Given the description of an element on the screen output the (x, y) to click on. 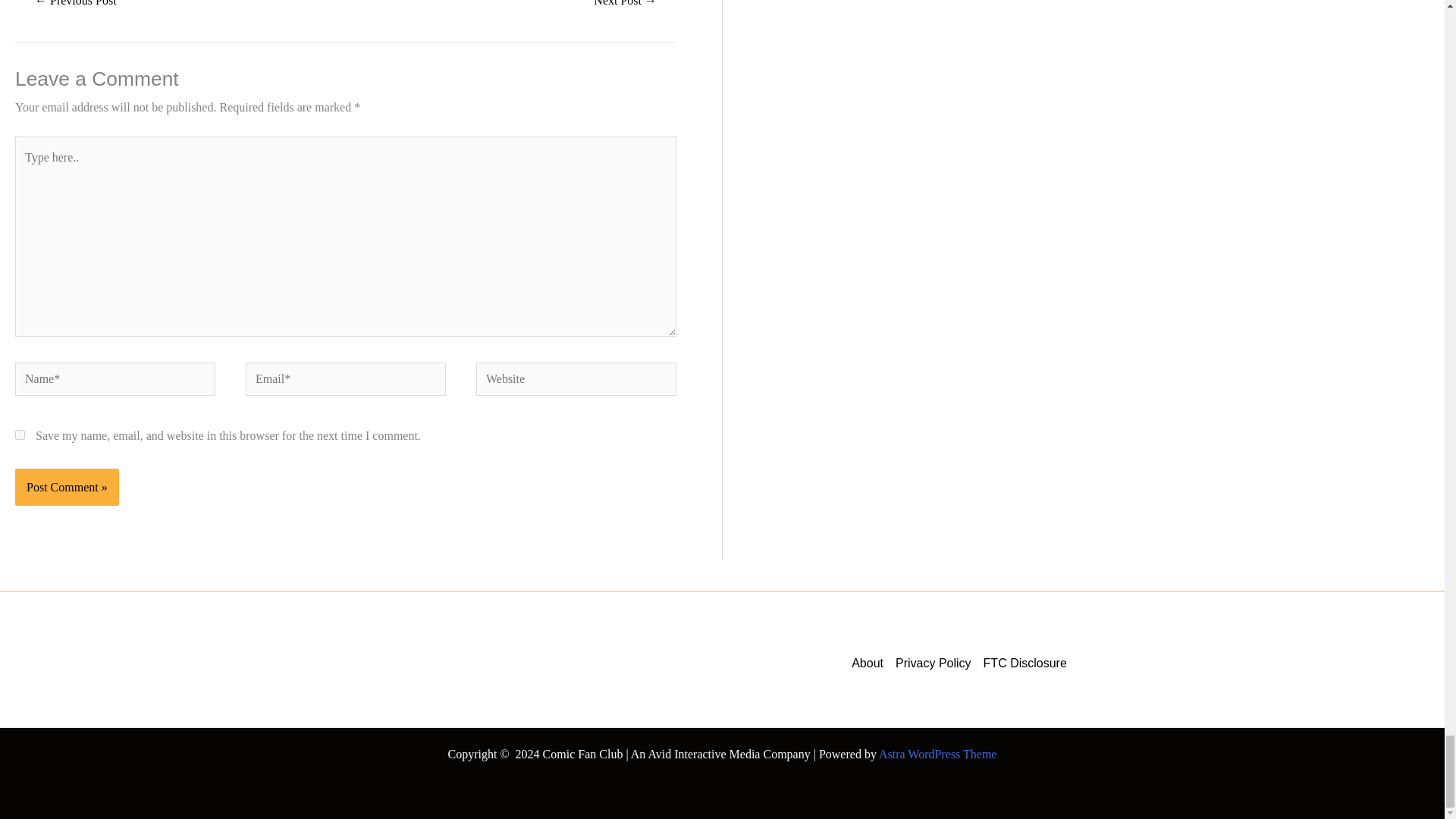
The Best Wonder Woman Pajamas (625, 7)
yes (19, 434)
